Given the description of an element on the screen output the (x, y) to click on. 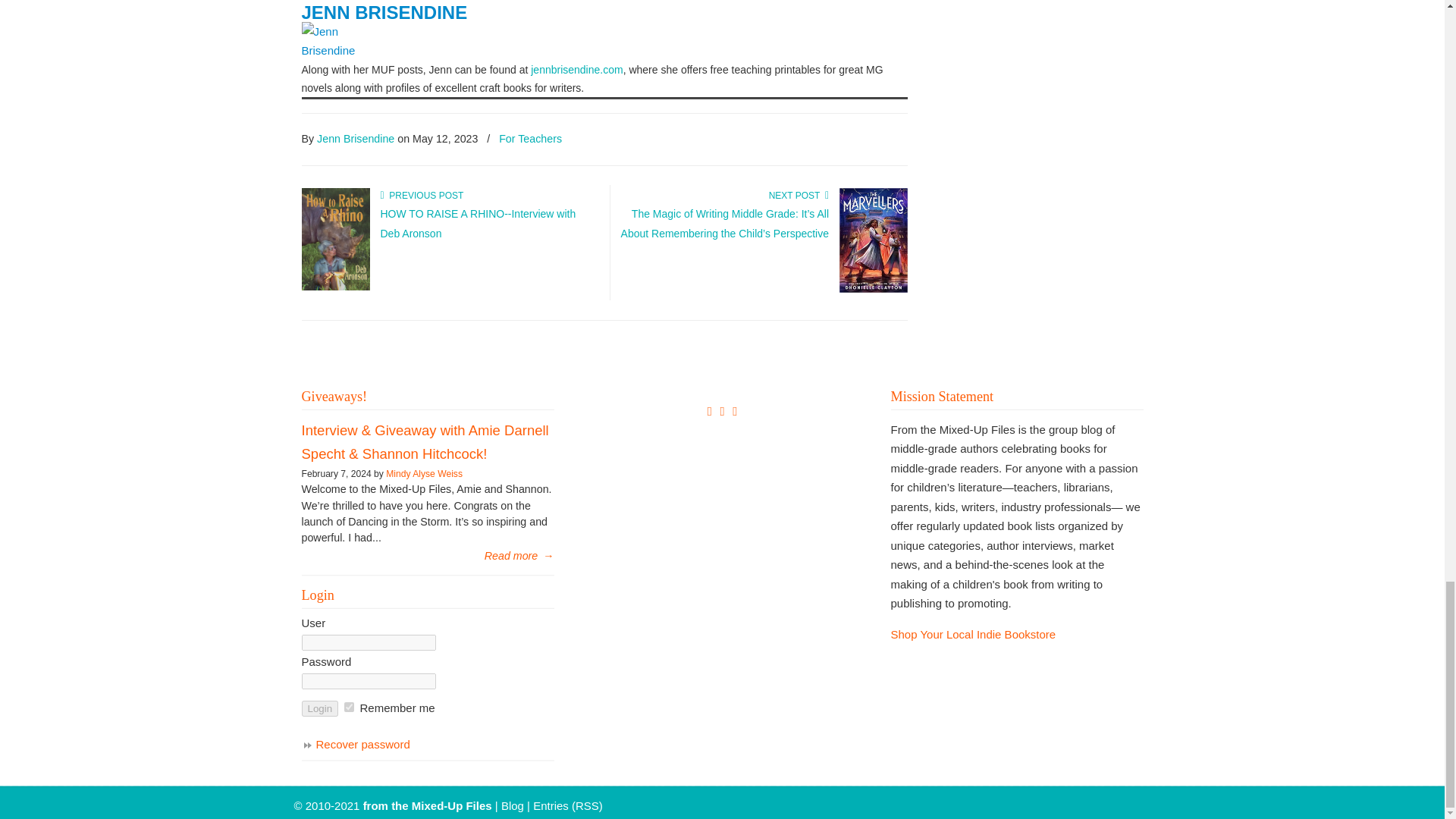
Jenn Brisendine (384, 12)
Posts by Jenn Brisendine (355, 138)
Login (320, 708)
forever (348, 706)
Go to previous post (422, 195)
